Given the description of an element on the screen output the (x, y) to click on. 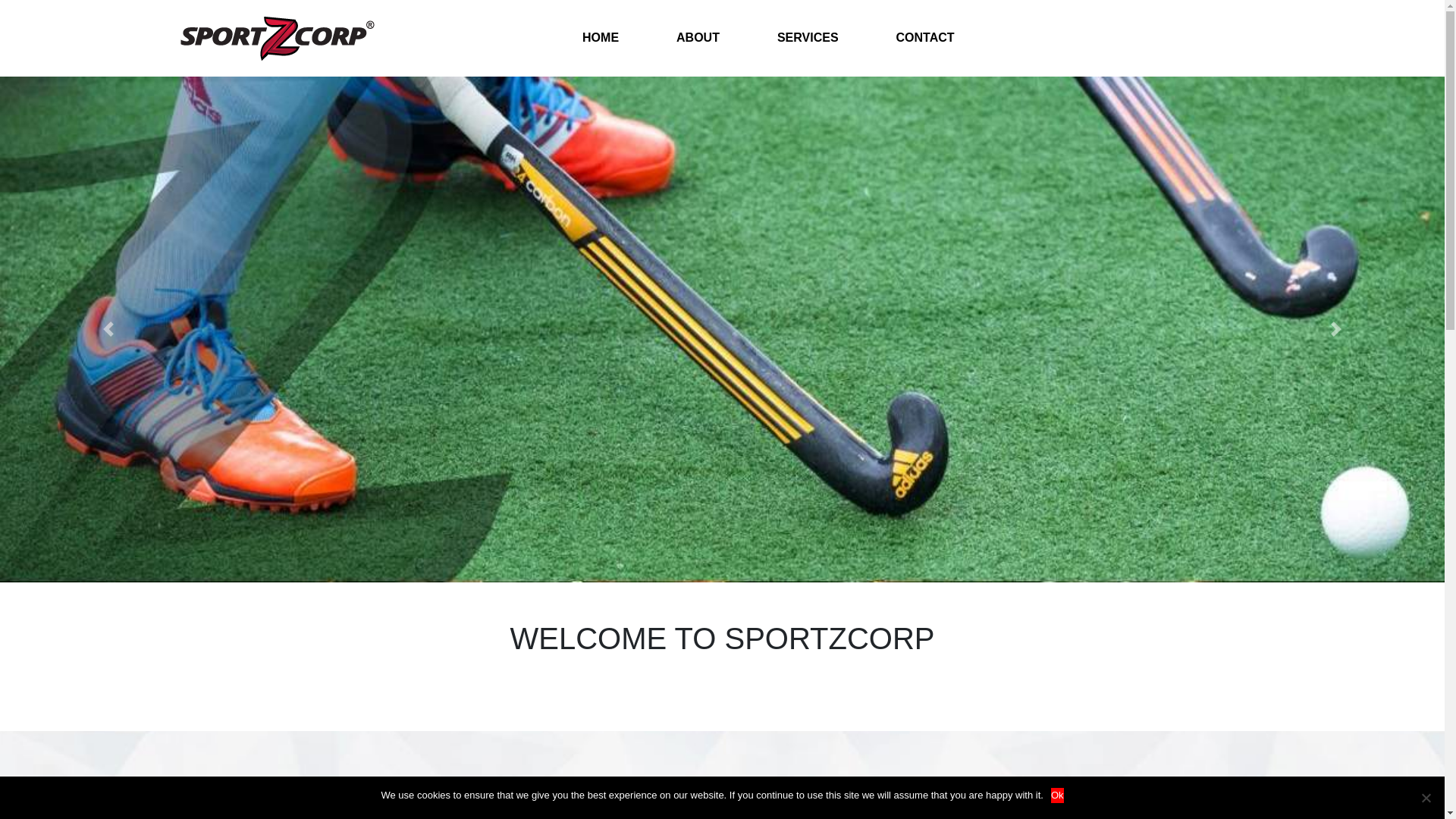
Ok (1057, 795)
CONTACT (925, 37)
HOME (600, 37)
ABOUT (698, 37)
SERVICES (807, 37)
No (1425, 797)
